Given the description of an element on the screen output the (x, y) to click on. 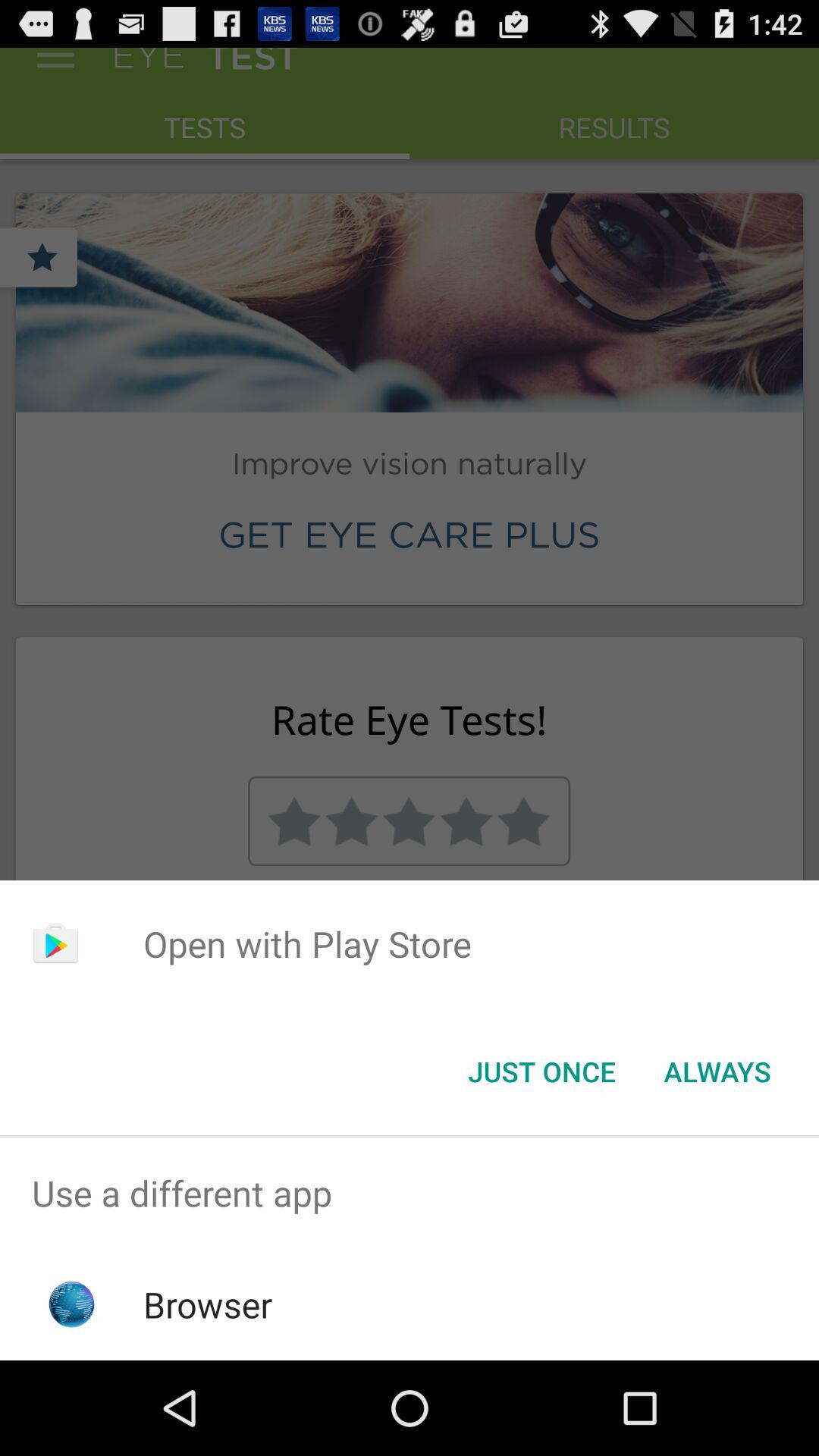
turn on item at the bottom right corner (717, 1071)
